Given the description of an element on the screen output the (x, y) to click on. 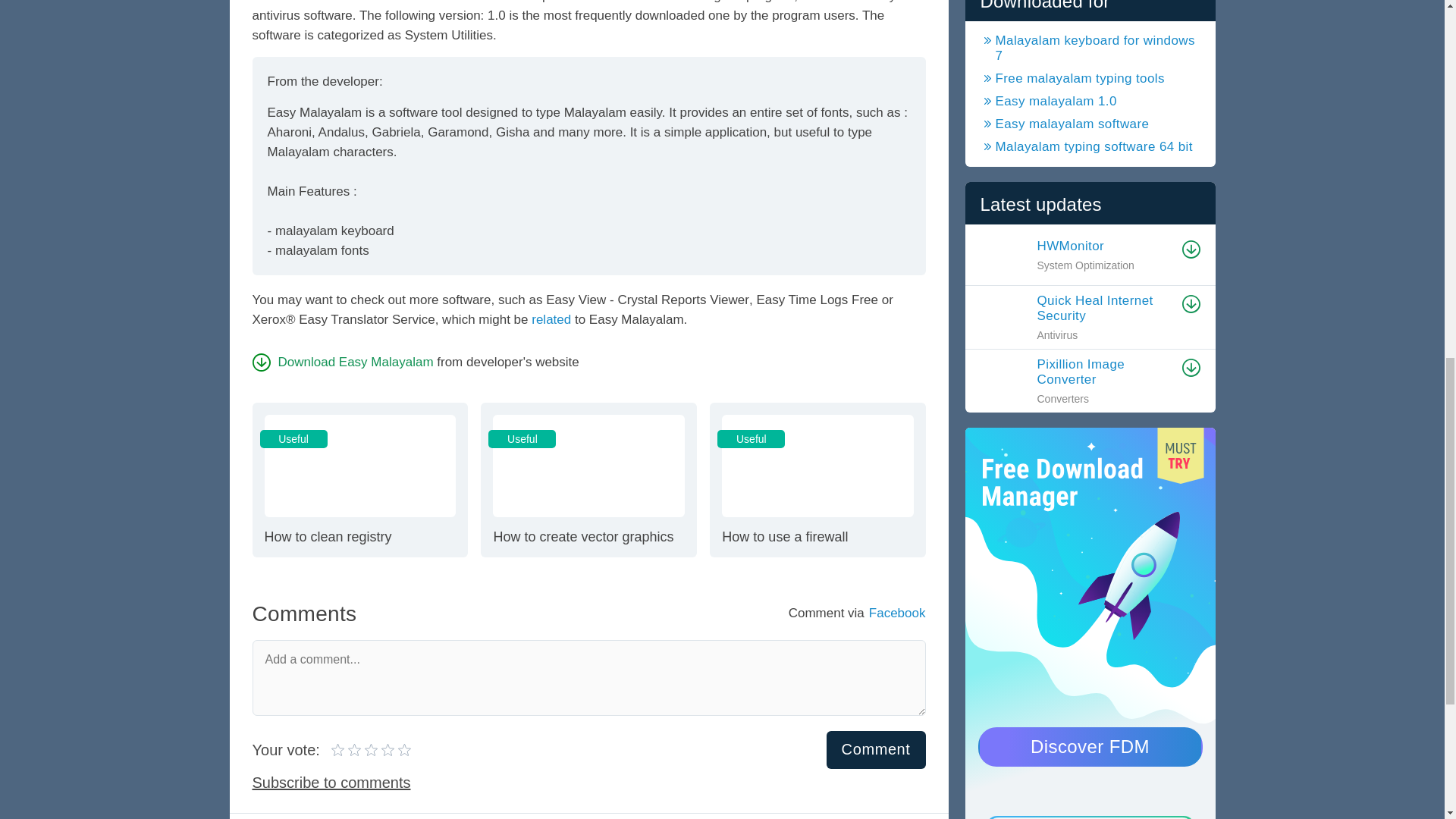
3 (817, 479)
Download Easy Malayalam (355, 748)
5 (341, 361)
Comment (359, 479)
Comment (587, 479)
1 (370, 748)
related (876, 750)
2 (876, 750)
4 (338, 748)
